Given the description of an element on the screen output the (x, y) to click on. 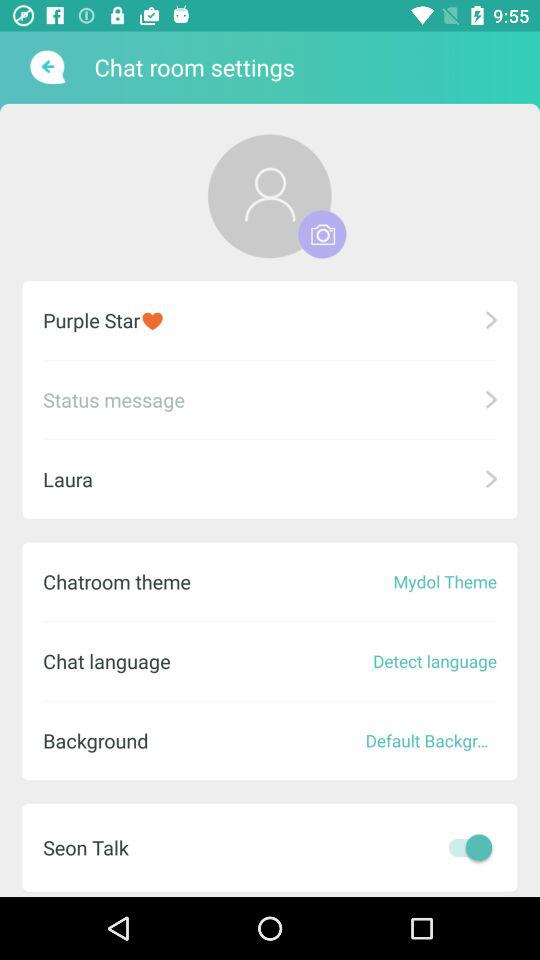
change profile pic (269, 195)
